Given the description of an element on the screen output the (x, y) to click on. 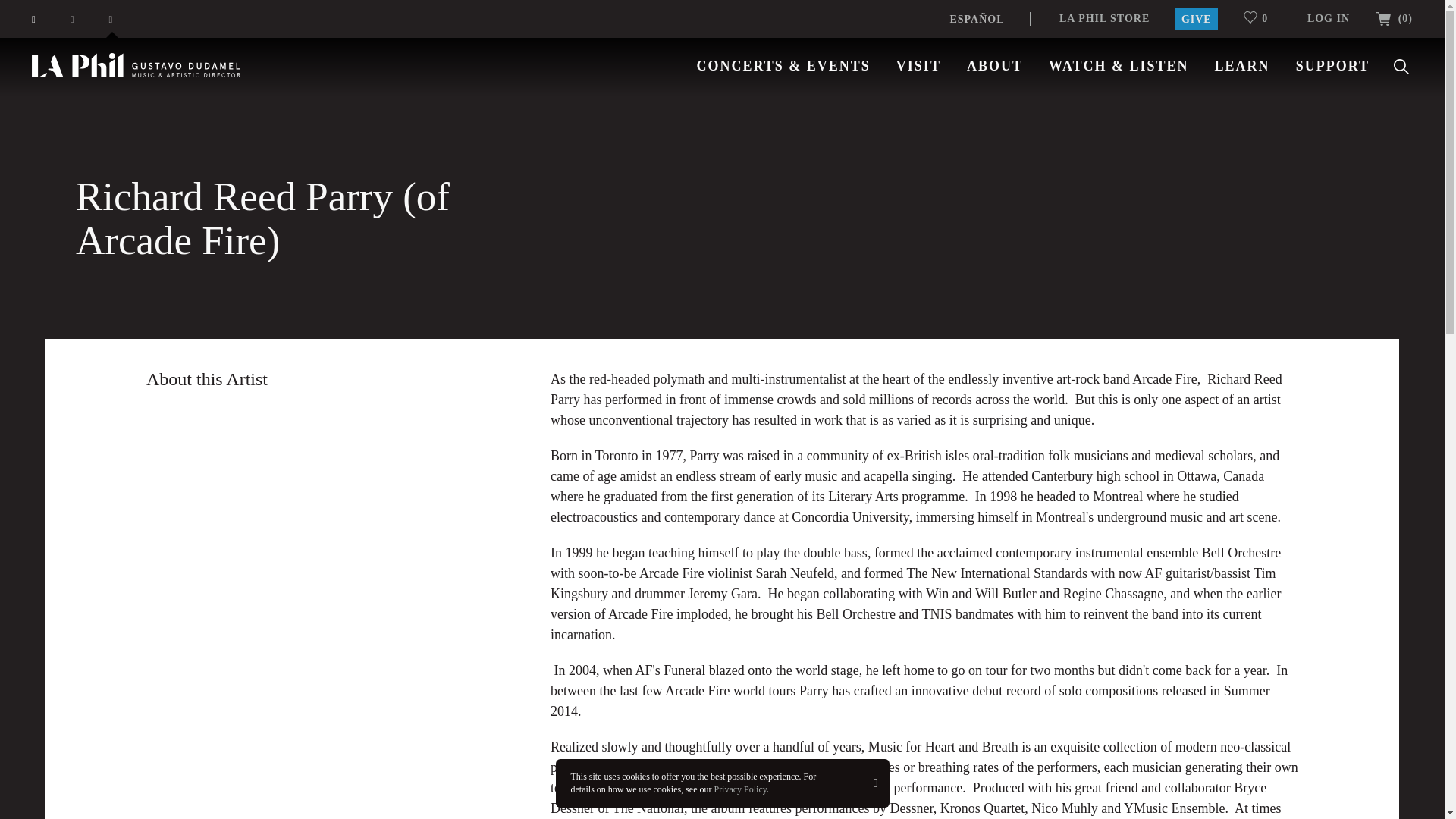
ABOUT (994, 65)
0 (1262, 18)
LA PHIL STORE (1104, 18)
Homepage (136, 64)
LOG IN (1328, 18)
VISIT (918, 65)
GIVE (1195, 18)
